Given the description of an element on the screen output the (x, y) to click on. 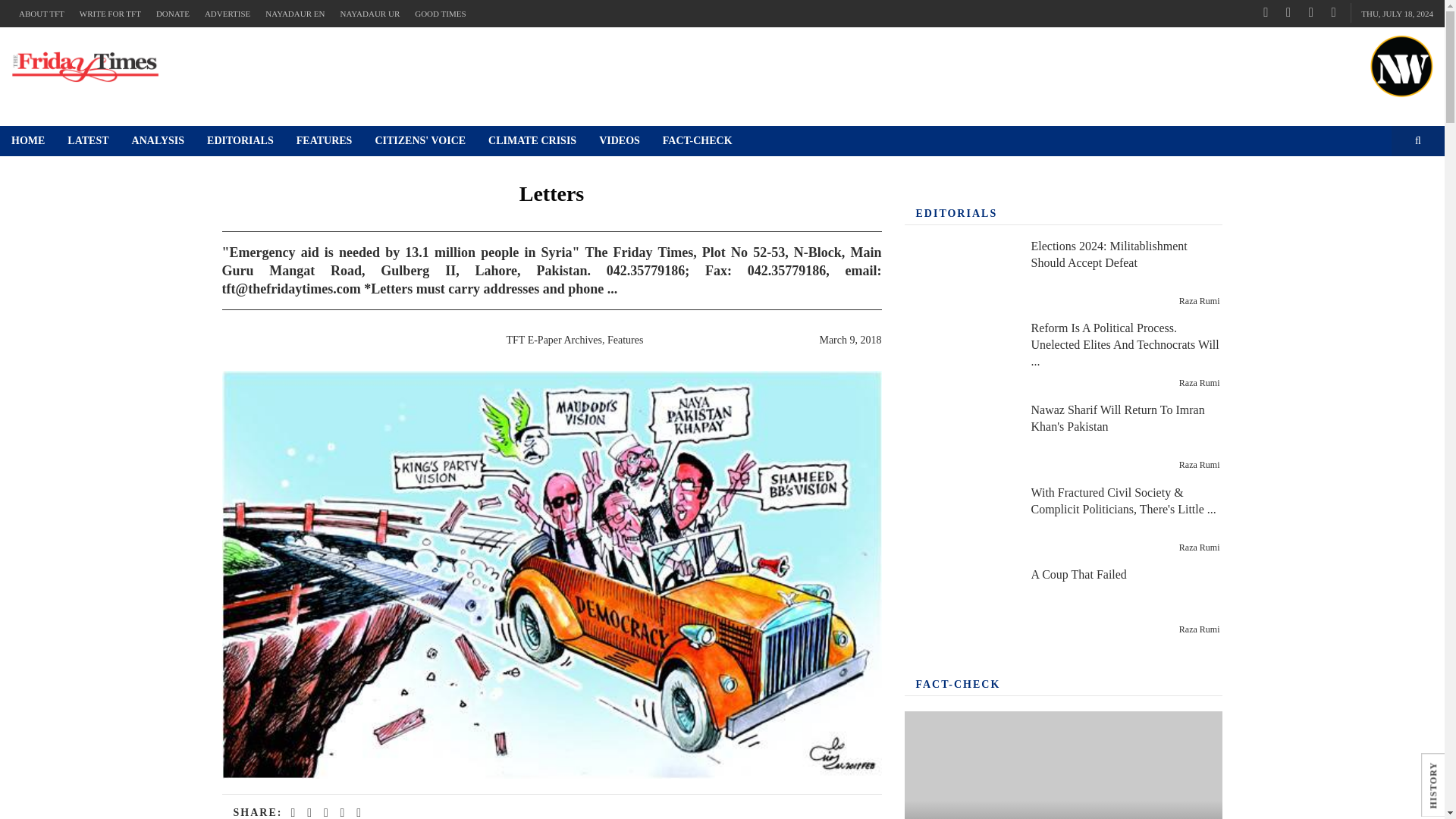
Features (625, 339)
NAYADAUR UR (369, 13)
TFT E-Paper Archives (554, 339)
VIDEOS (619, 141)
EDITORIALS (240, 141)
HOME (28, 141)
ABOUT TFT (41, 13)
Fact Check: Will Govt Shutdown Social Media Apps on Ashura? (1063, 765)
LATEST (87, 141)
NAYADAUR EN (294, 13)
Nawaz Sharif Will Return To Imran Khan's Pakistan (959, 437)
FEATURES (324, 141)
WRITE FOR TFT (109, 13)
CITIZENS' VOICE (419, 141)
